Given the description of an element on the screen output the (x, y) to click on. 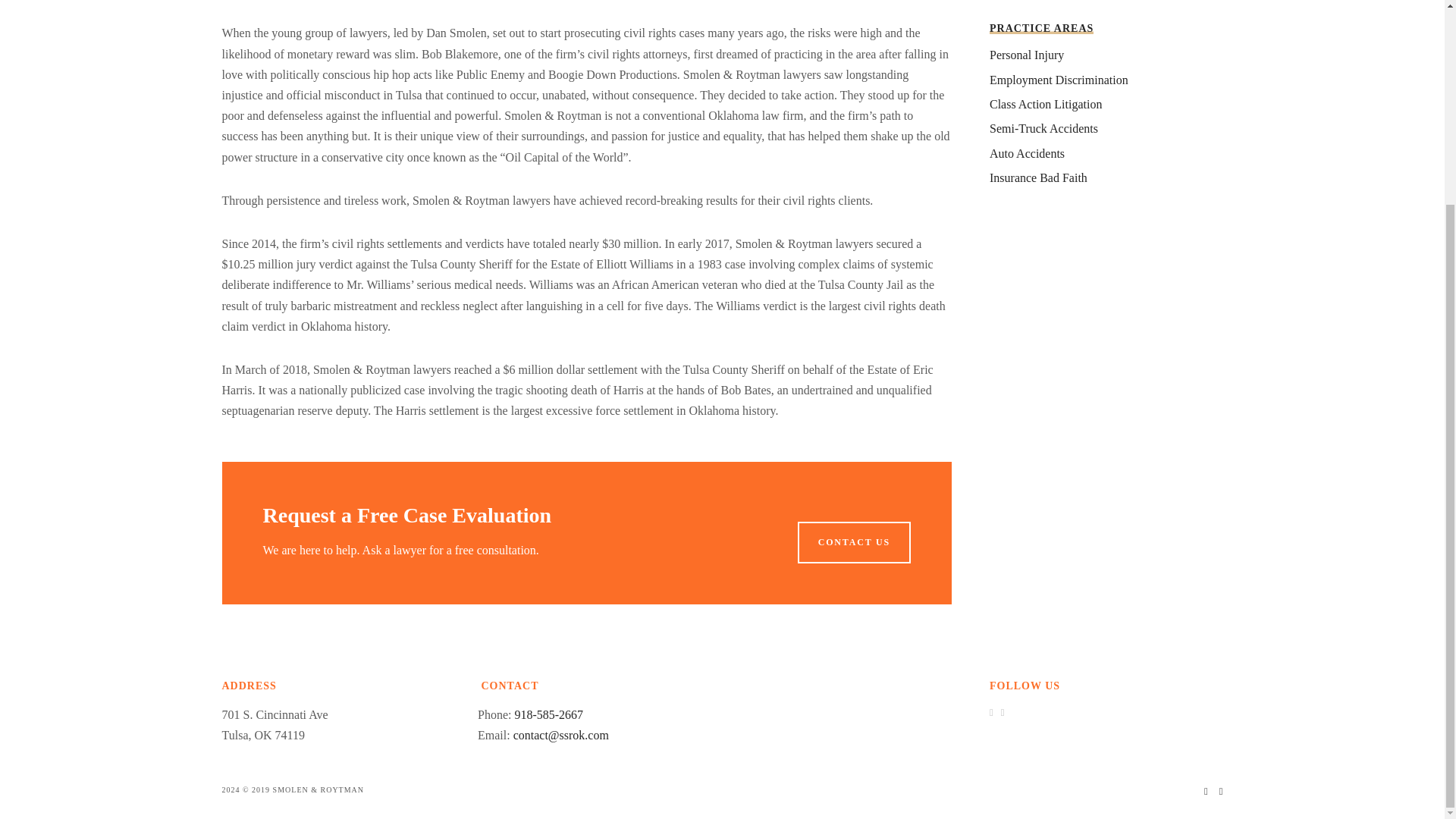
Personal Injury (1027, 54)
Auto Accidents (1027, 153)
Class Action Litigation (1046, 103)
918-585-2667 (548, 714)
Employment Discrimination (1059, 79)
CONTACT US (854, 541)
Semi-Truck Accidents (1043, 128)
Insurance Bad Faith (1038, 177)
